Given the description of an element on the screen output the (x, y) to click on. 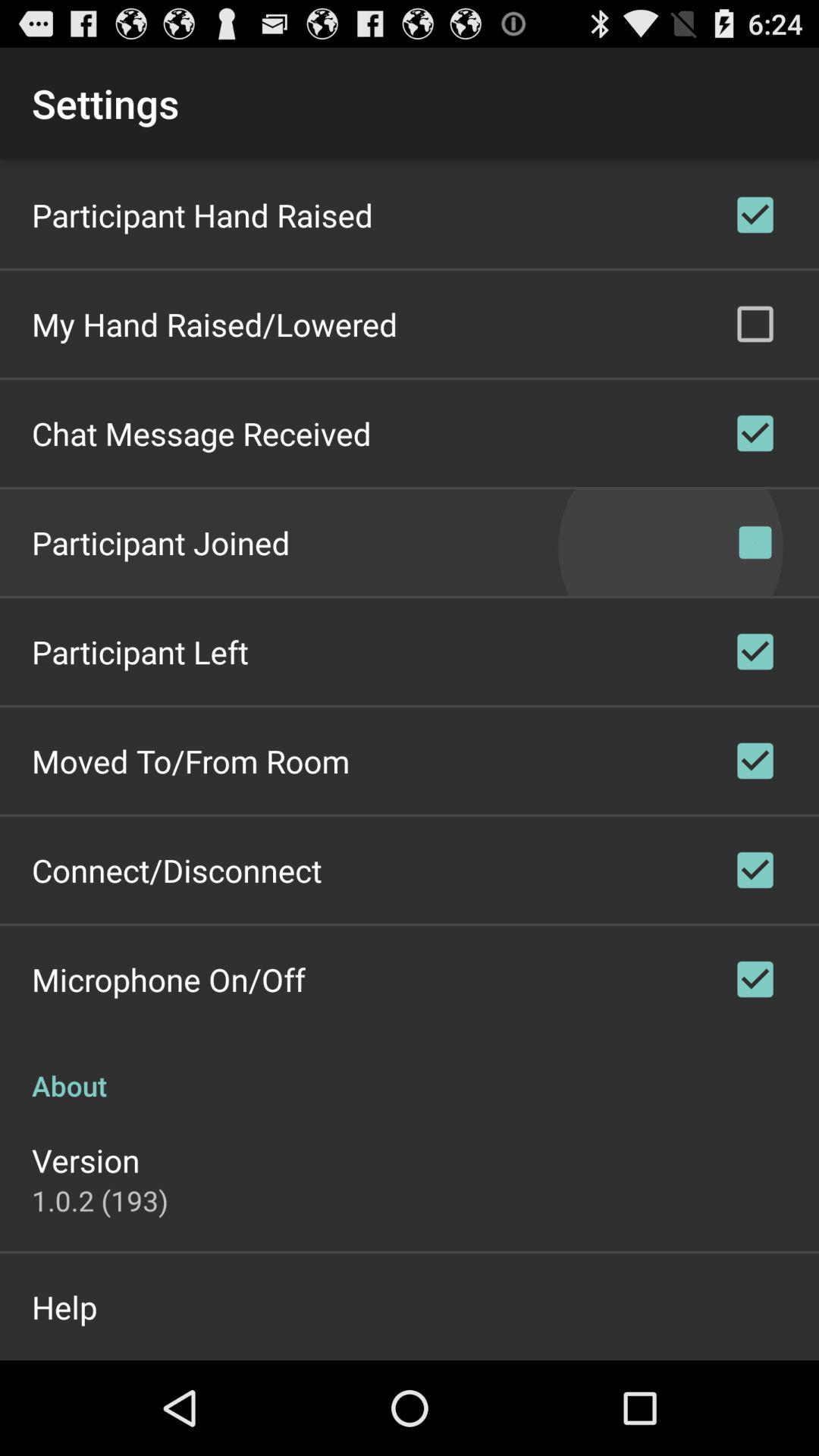
turn on app below the version icon (99, 1200)
